Given the description of an element on the screen output the (x, y) to click on. 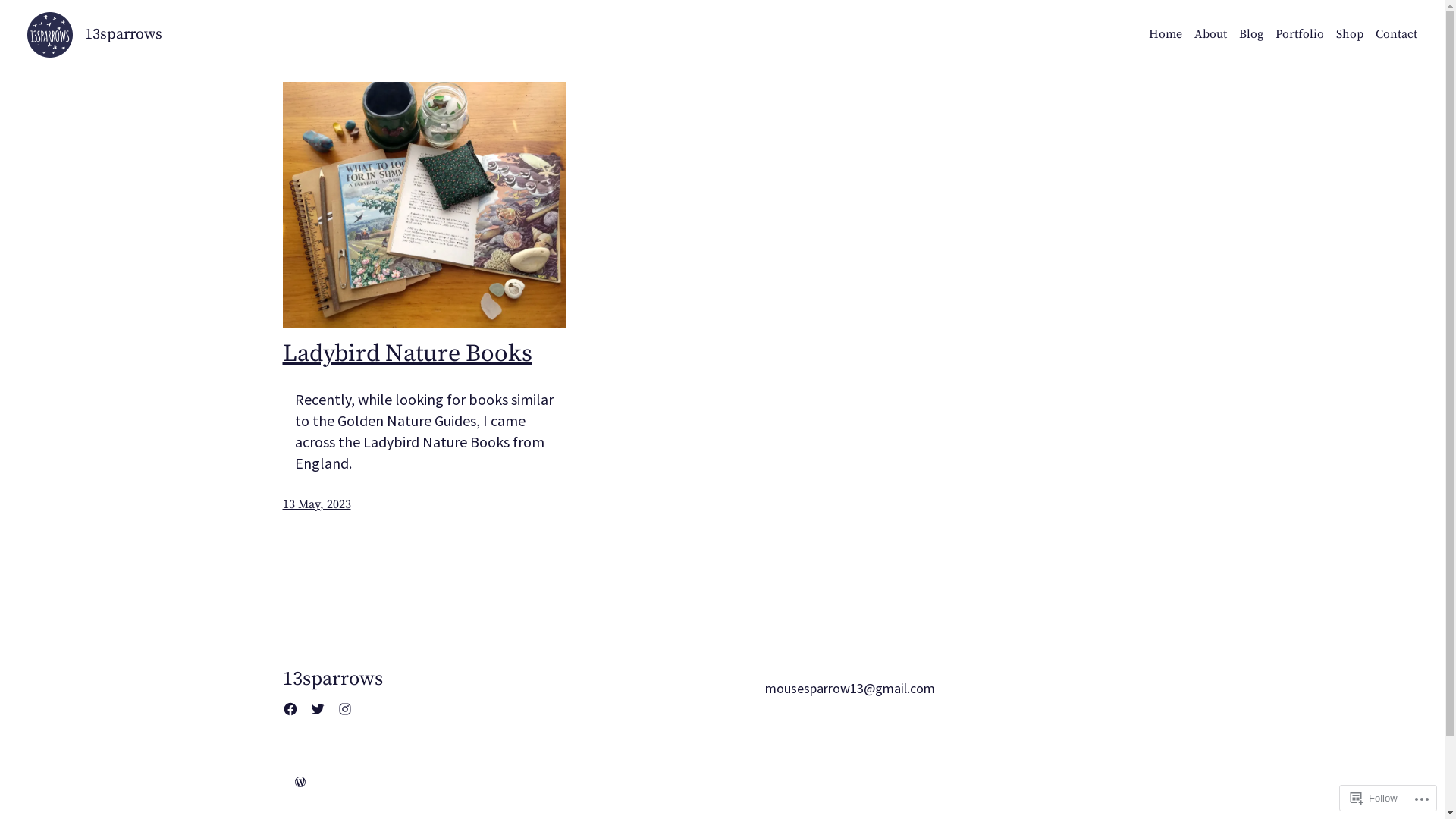
Ladybird Nature Books Element type: text (406, 353)
13sparrows Element type: text (123, 34)
Shop Element type: text (1349, 34)
13 May, 2023 Element type: text (316, 503)
Portfolio Element type: text (1299, 34)
Blog Element type: text (1251, 34)
About Element type: text (1210, 34)
Home Element type: text (1165, 34)
Contact Element type: text (1396, 34)
Create a website or blog at WordPress.com Element type: text (299, 782)
Follow Element type: text (1373, 797)
